Given the description of an element on the screen output the (x, y) to click on. 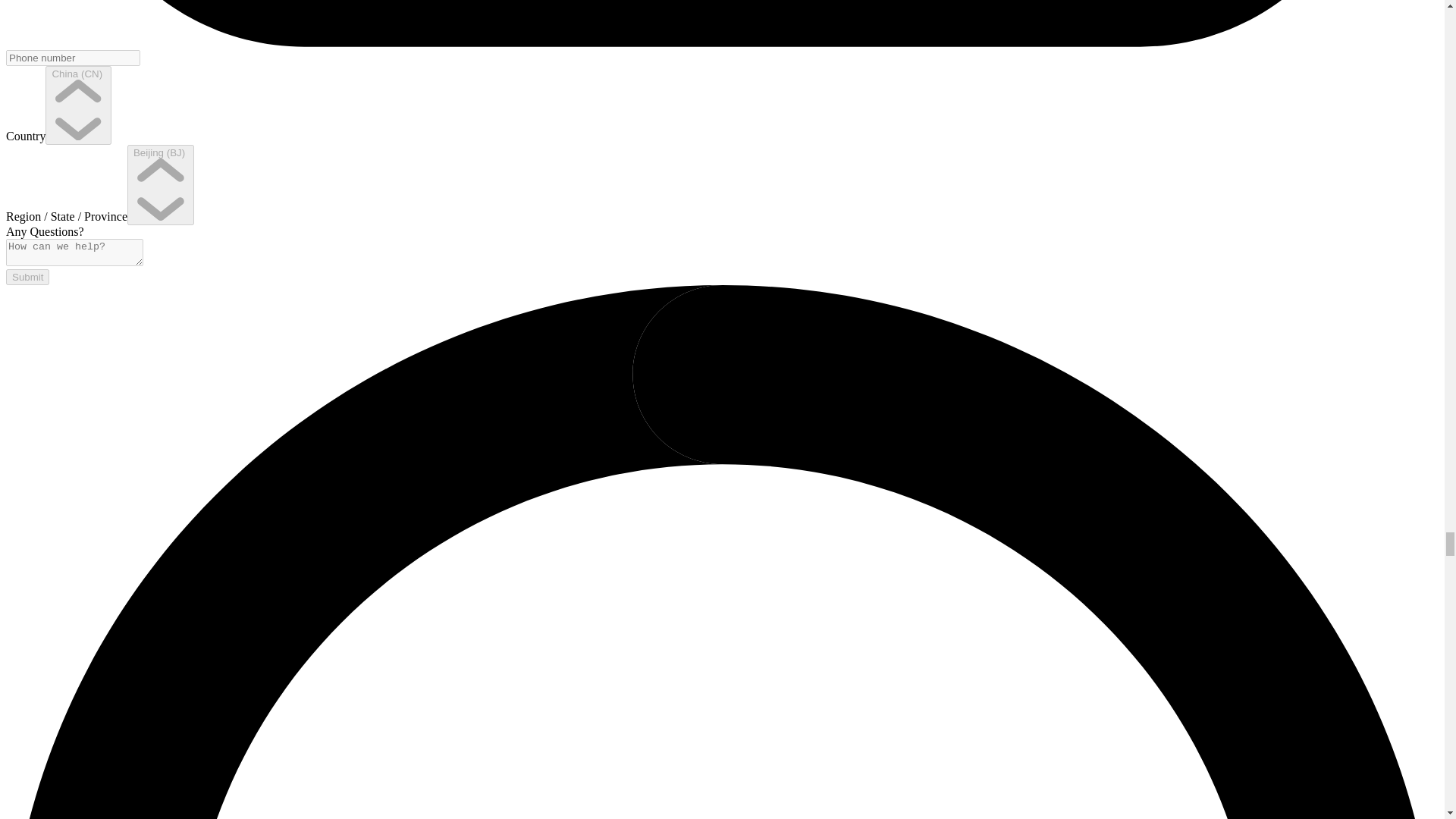
Submit (27, 277)
